Given the description of an element on the screen output the (x, y) to click on. 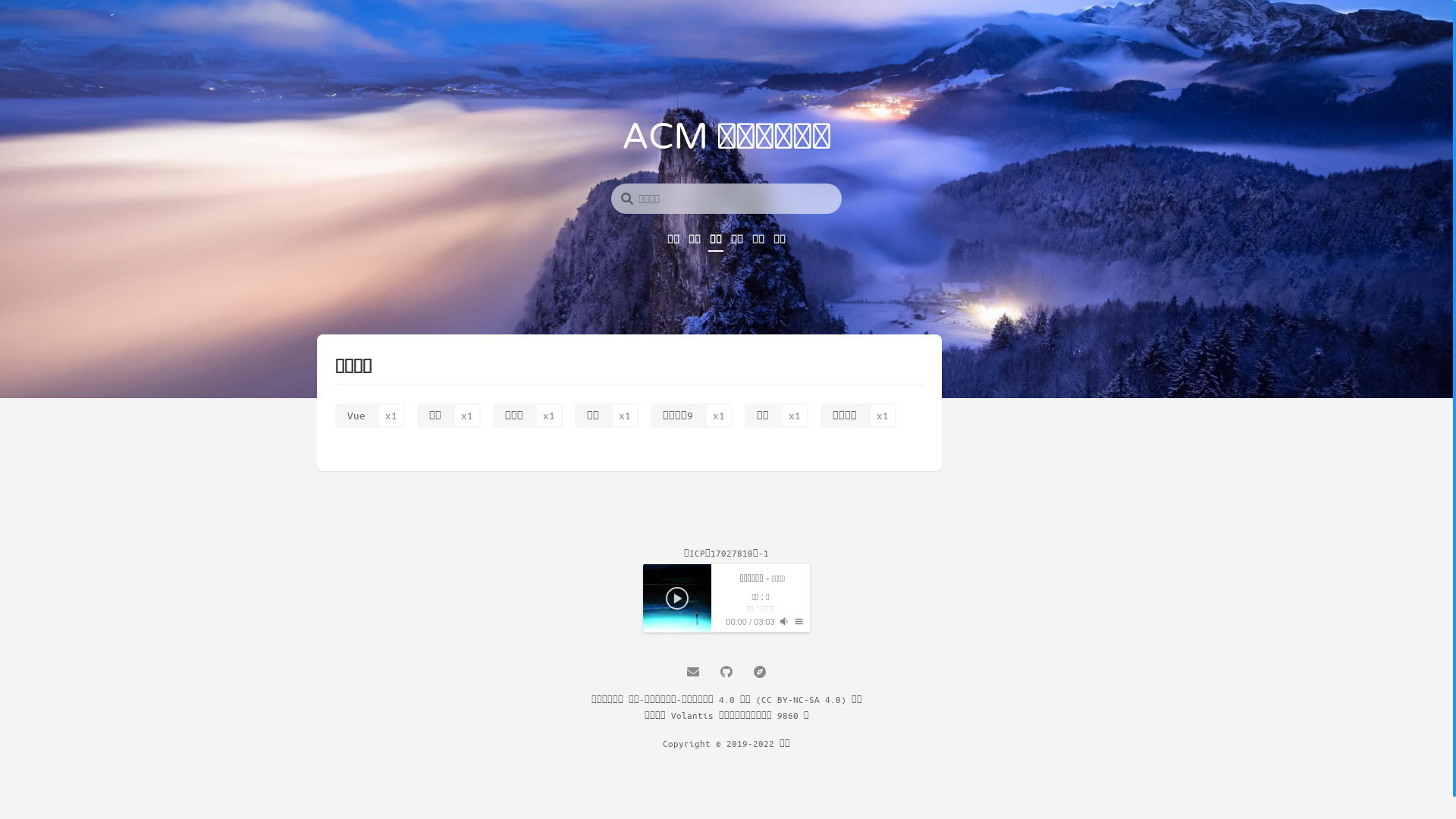
Vue Element type: text (369, 414)
Volantis Element type: text (691, 715)
